Given the description of an element on the screen output the (x, y) to click on. 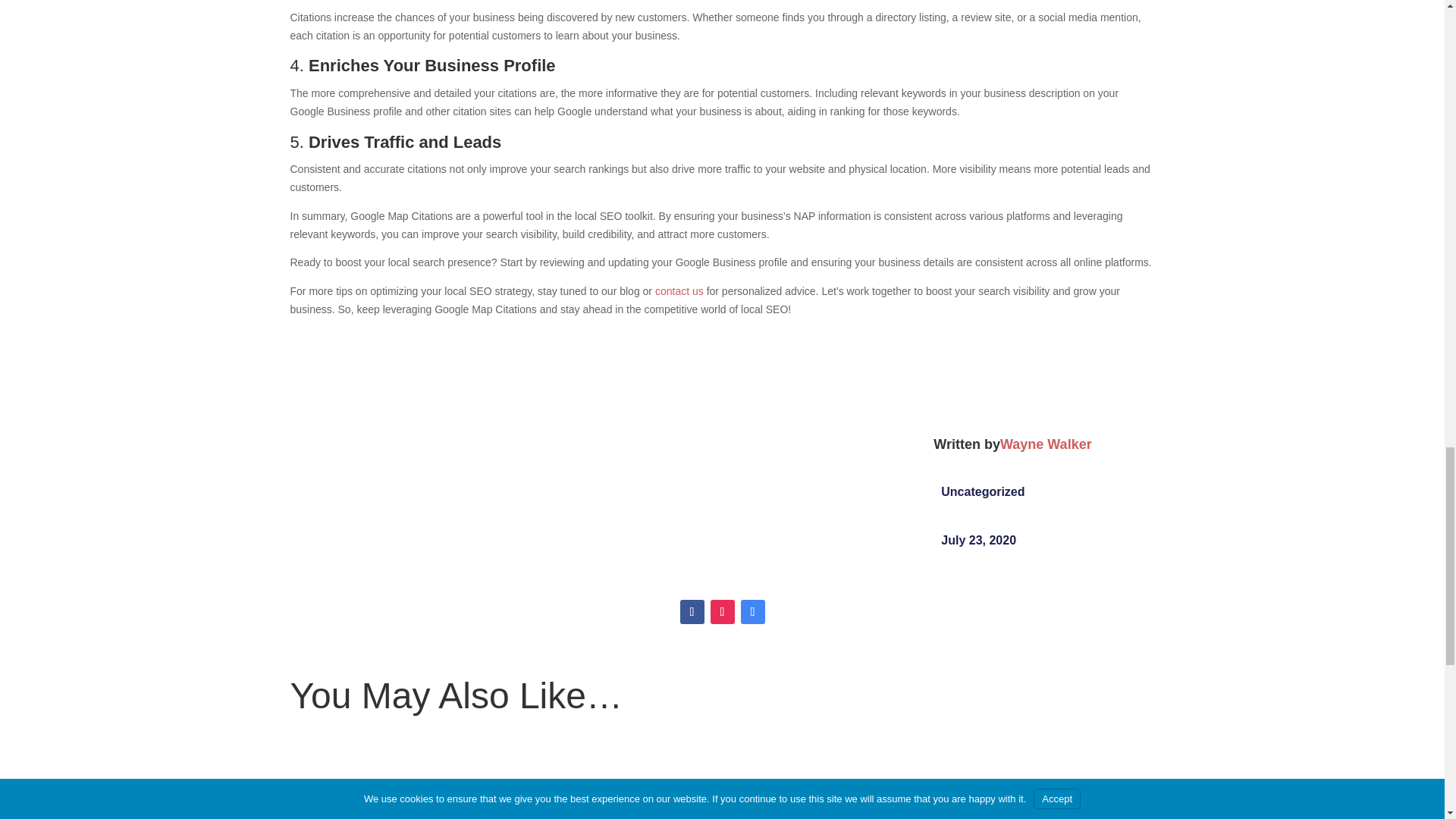
Follow on Instagram (721, 611)
contact us (679, 291)
Wayne Walker (1046, 444)
Follow on Google (751, 611)
Uncategorized (982, 491)
Follow on Facebook (691, 611)
